Given the description of an element on the screen output the (x, y) to click on. 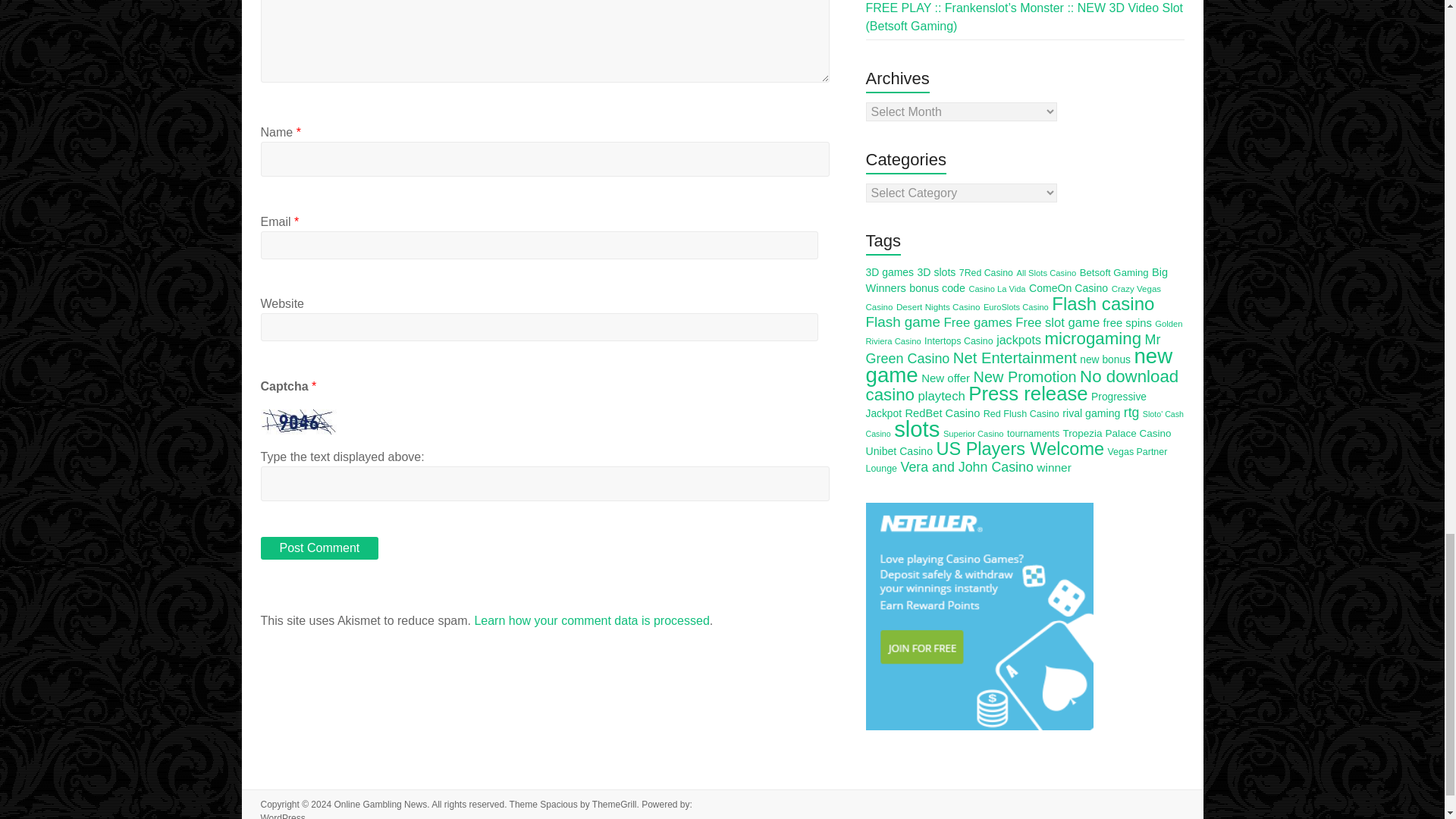
Learn how your comment data is processed (591, 620)
Post Comment (319, 548)
Post Comment (319, 548)
